Given the description of an element on the screen output the (x, y) to click on. 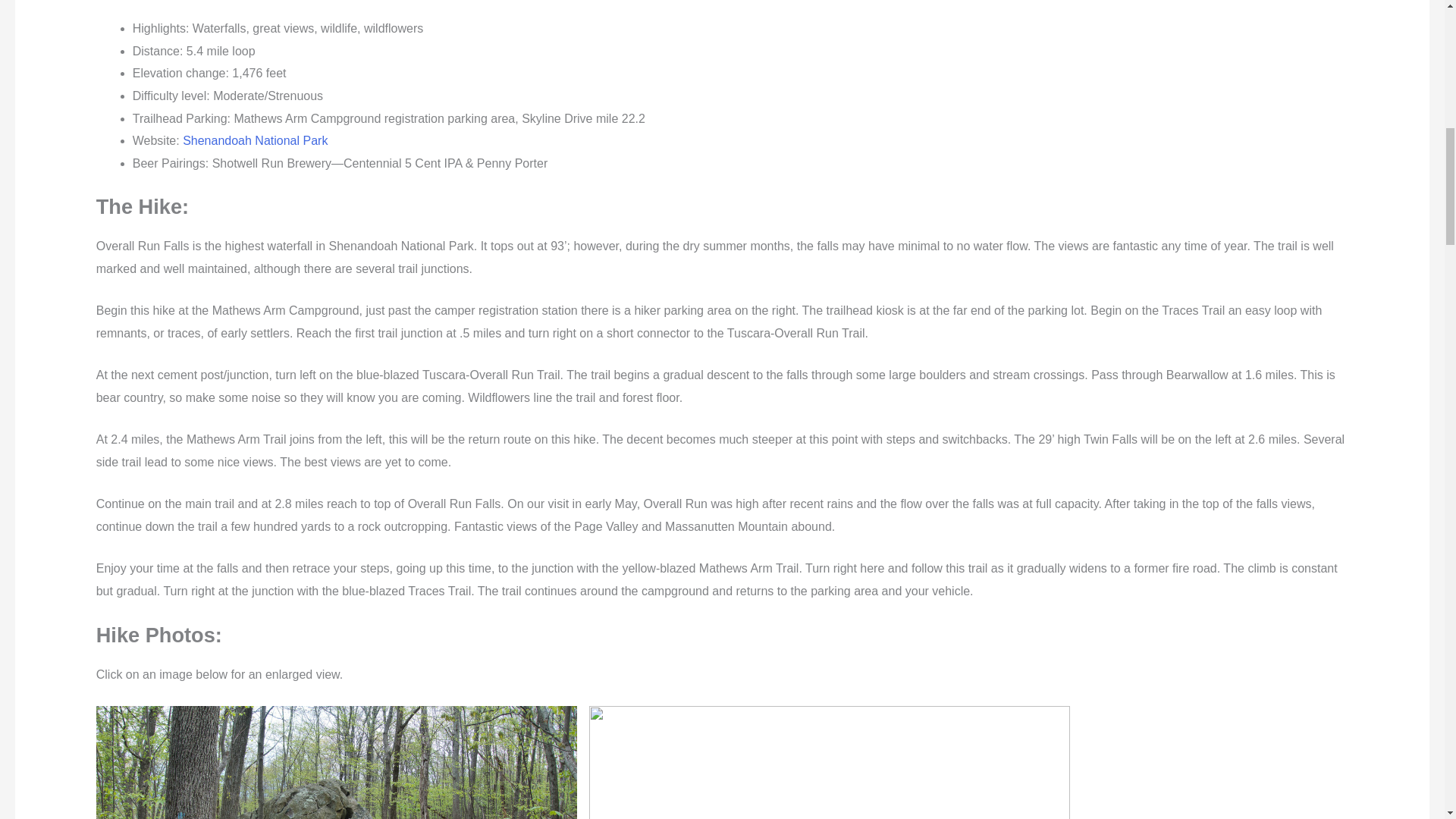
Shenandoah National Park (255, 140)
